Given the description of an element on the screen output the (x, y) to click on. 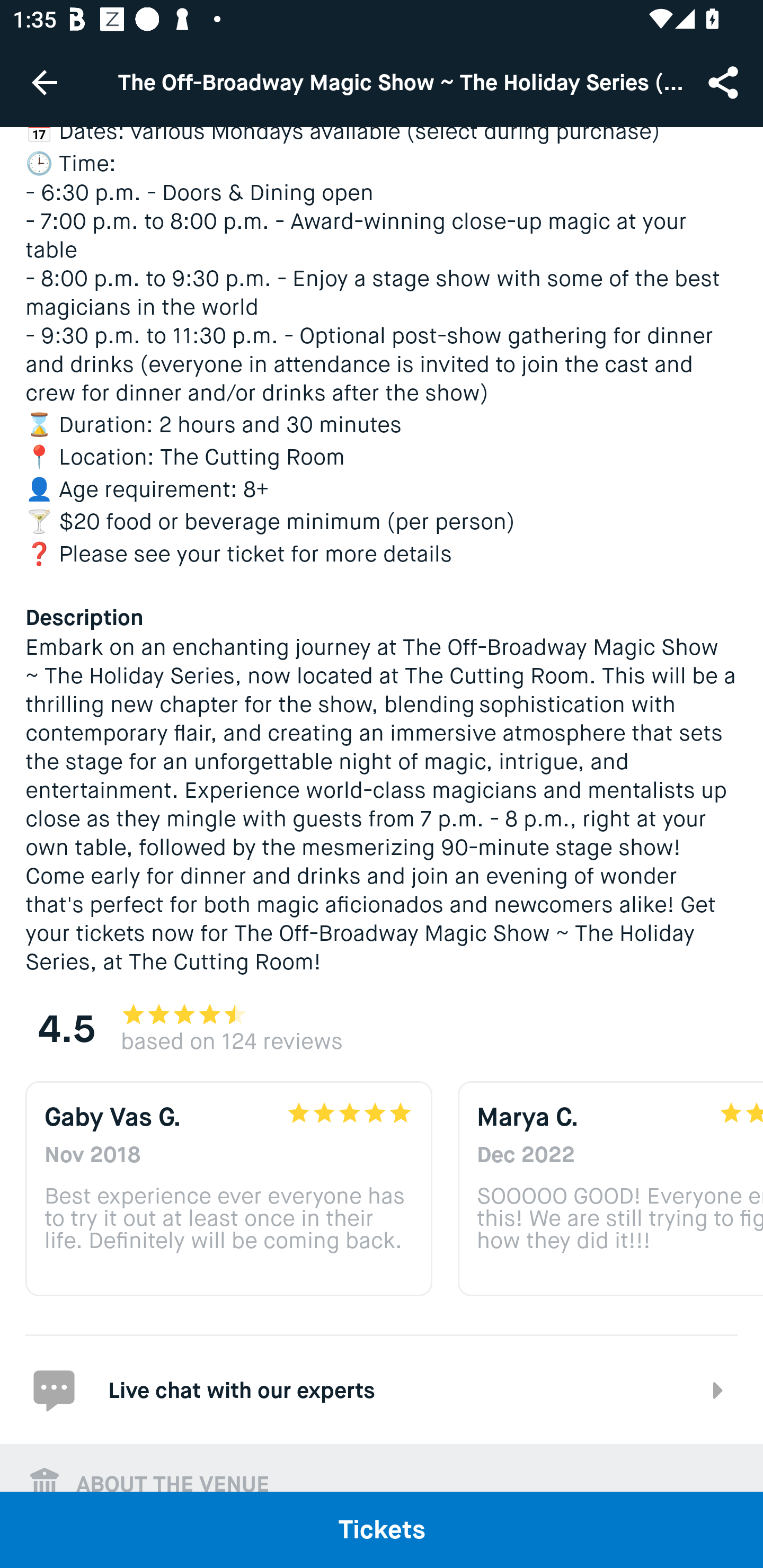
Navigate up (44, 82)
Share (724, 81)
Live chat with our experts (381, 1389)
Tickets (381, 1529)
